Given the description of an element on the screen output the (x, y) to click on. 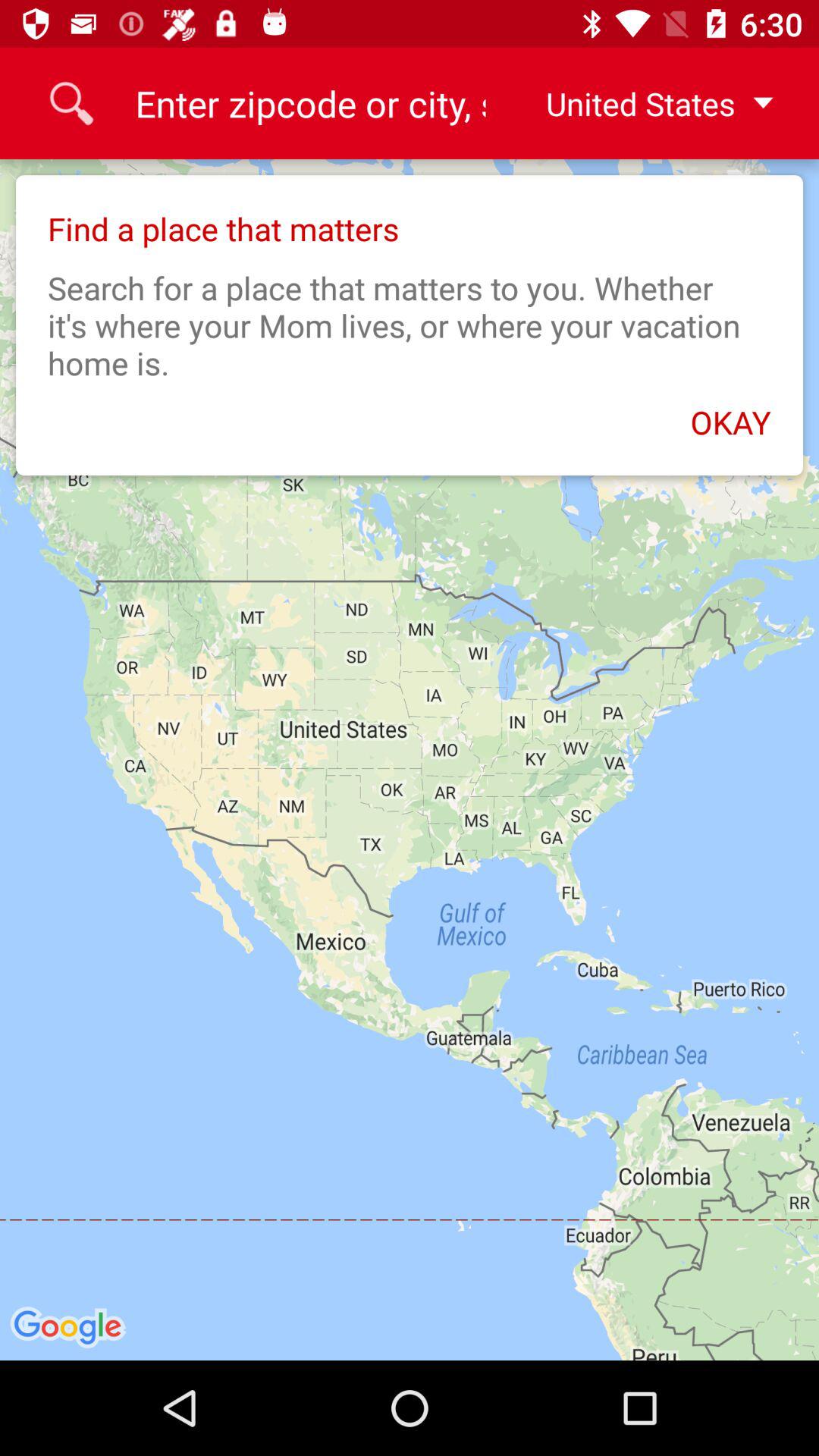
click item to the right of the 9 icon (647, 103)
